Given the description of an element on the screen output the (x, y) to click on. 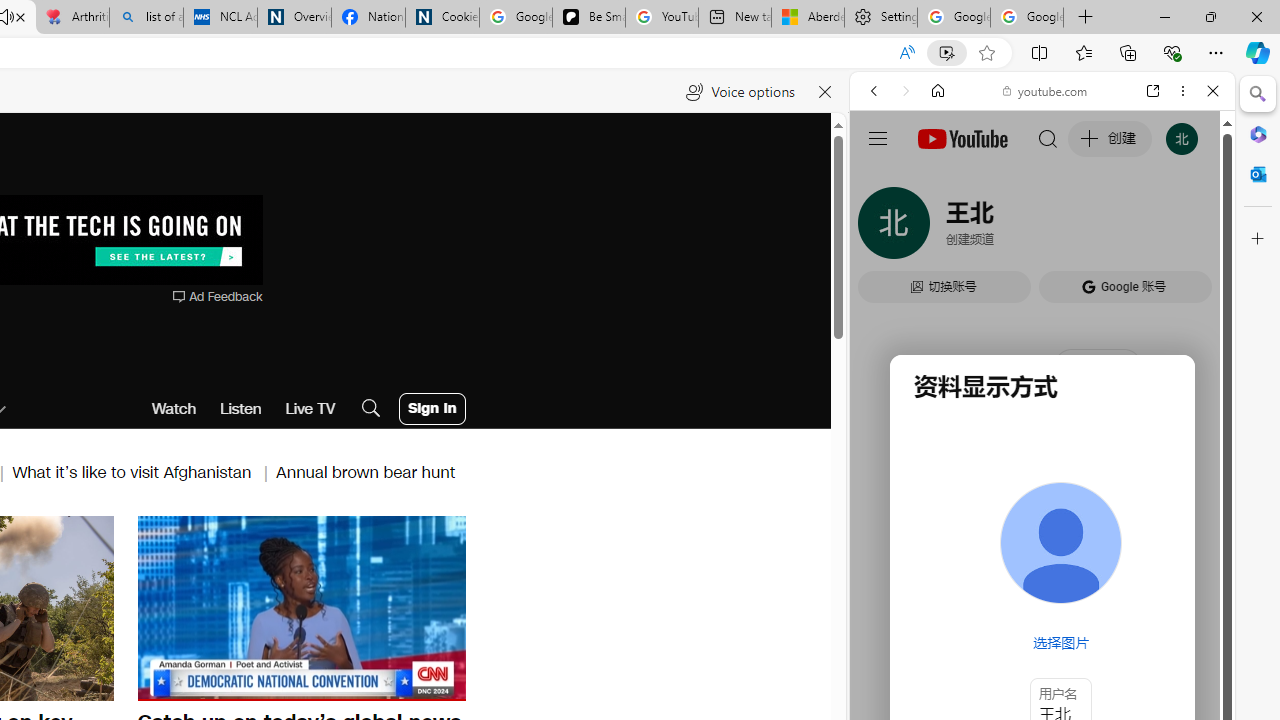
Backward 10 seconds (241, 606)
User Account Log In Button (432, 408)
